Given the description of an element on the screen output the (x, y) to click on. 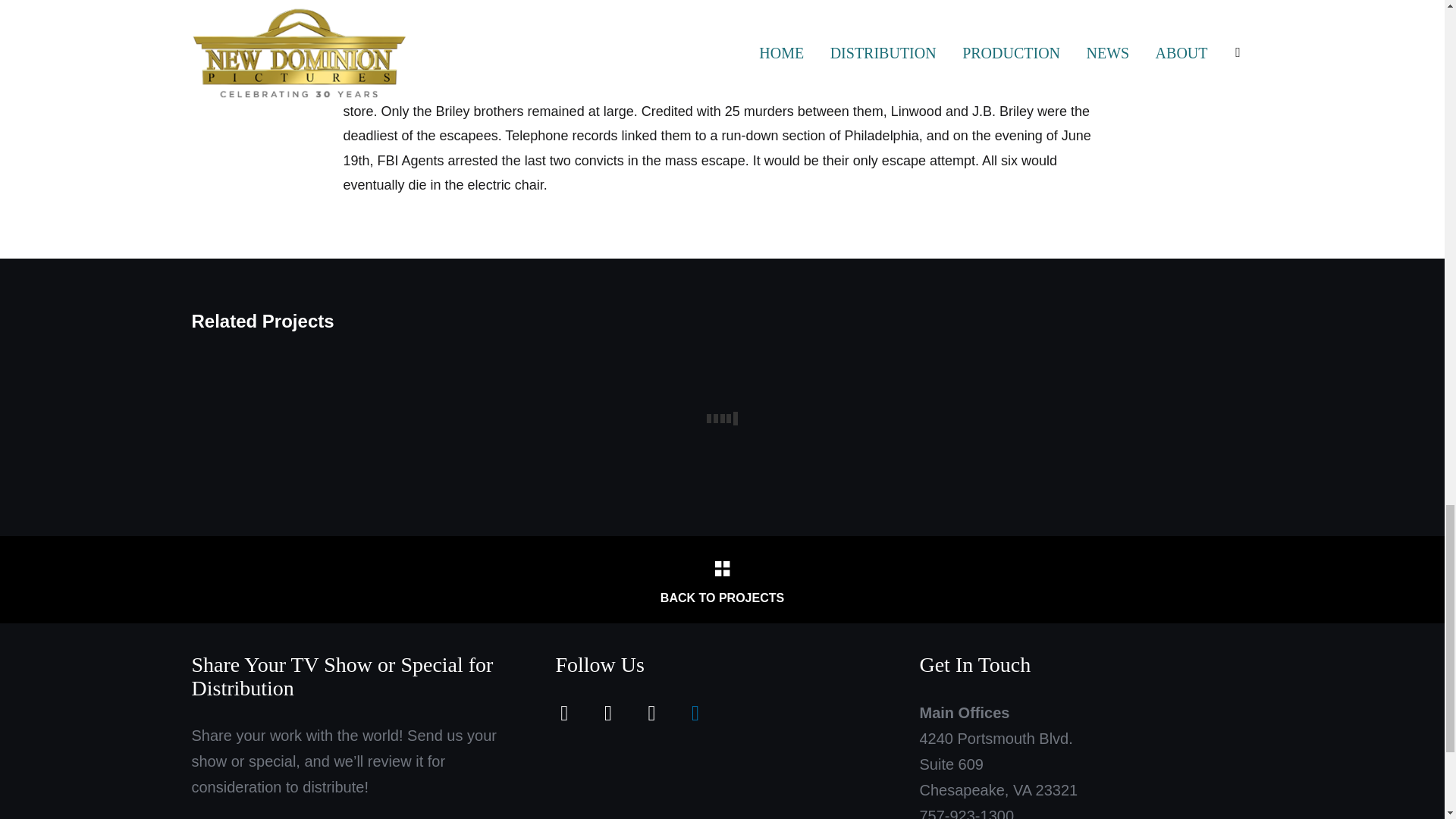
instagram (651, 711)
facebook (563, 711)
BACK TO PROJECTS (721, 579)
linkedin (694, 711)
Default Label (651, 711)
Friend me on Facebook (563, 711)
Follow Me (607, 711)
twitter (607, 711)
